Given the description of an element on the screen output the (x, y) to click on. 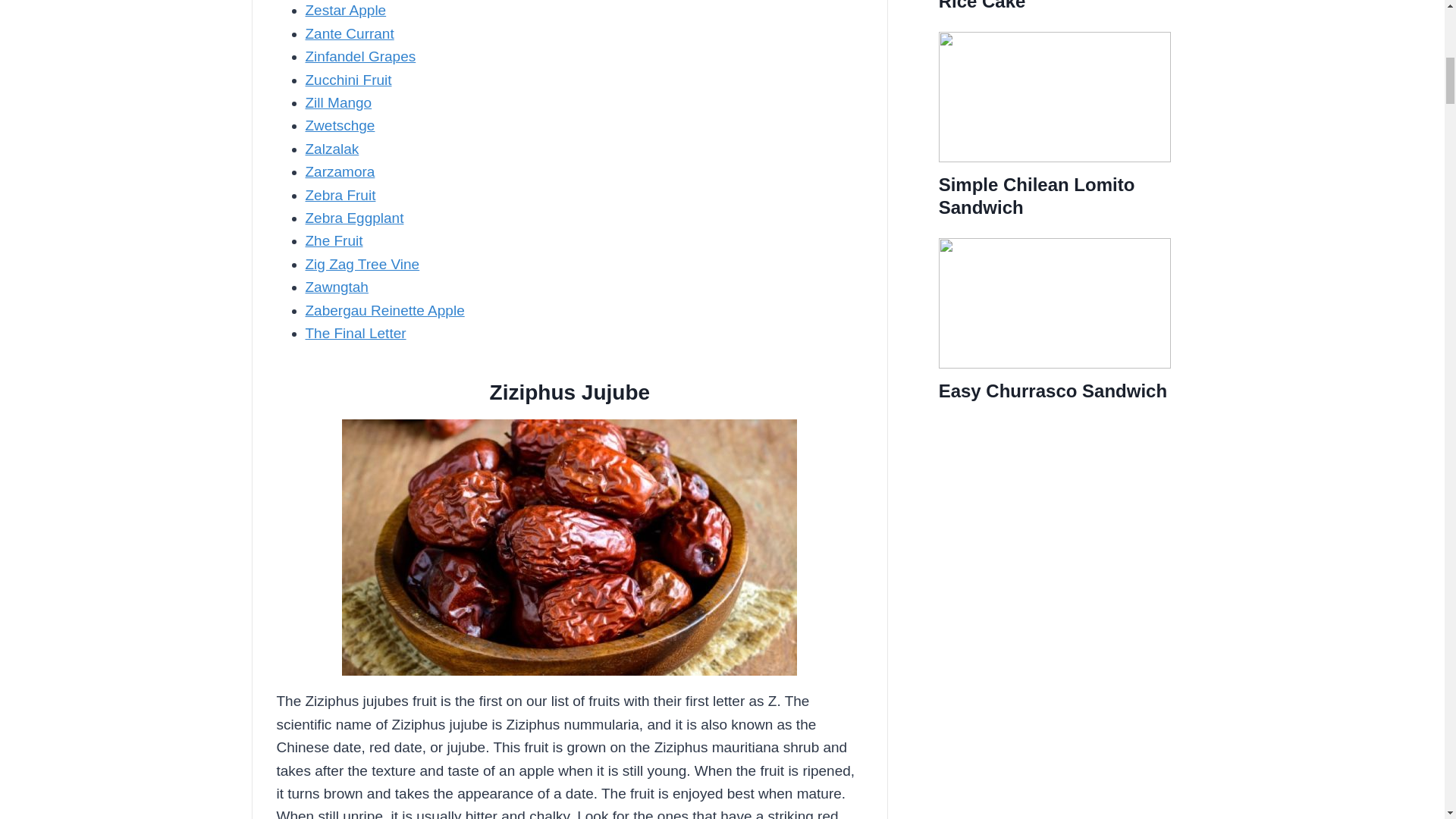
Zalzalak (331, 148)
Zwetschge (339, 125)
Zante Currant (348, 33)
Zucchini Fruit (347, 79)
Zestar Apple (344, 10)
Zarzamora (339, 171)
Zebra Fruit (339, 195)
Zinfandel Grapes (359, 56)
Zill Mango (337, 102)
